Given the description of an element on the screen output the (x, y) to click on. 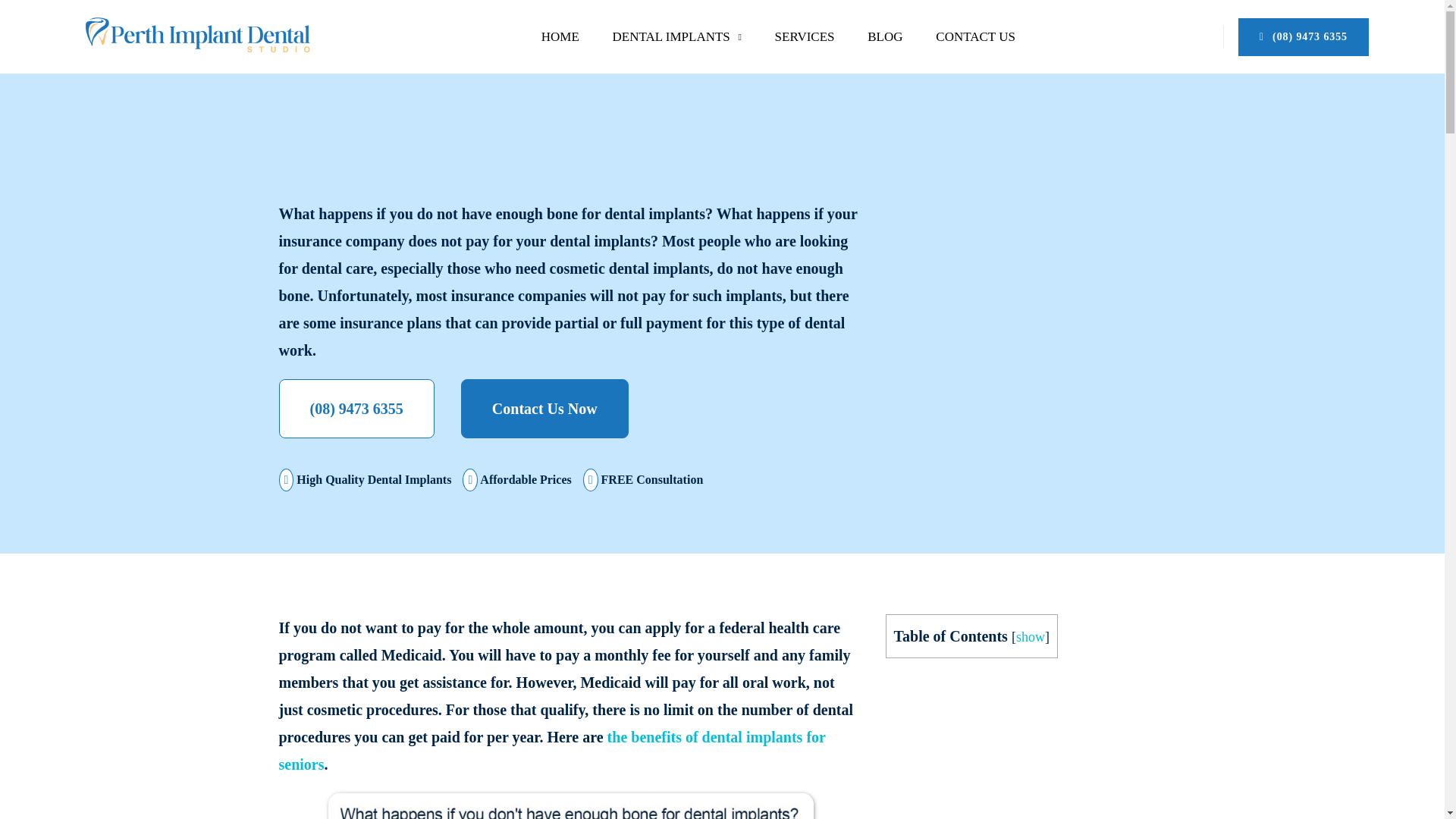
DENTAL IMPLANTS (676, 36)
show (1030, 636)
the benefits of dental implants for seniors (552, 750)
Contact Us Now (544, 408)
CONTACT US (975, 36)
